Given the description of an element on the screen output the (x, y) to click on. 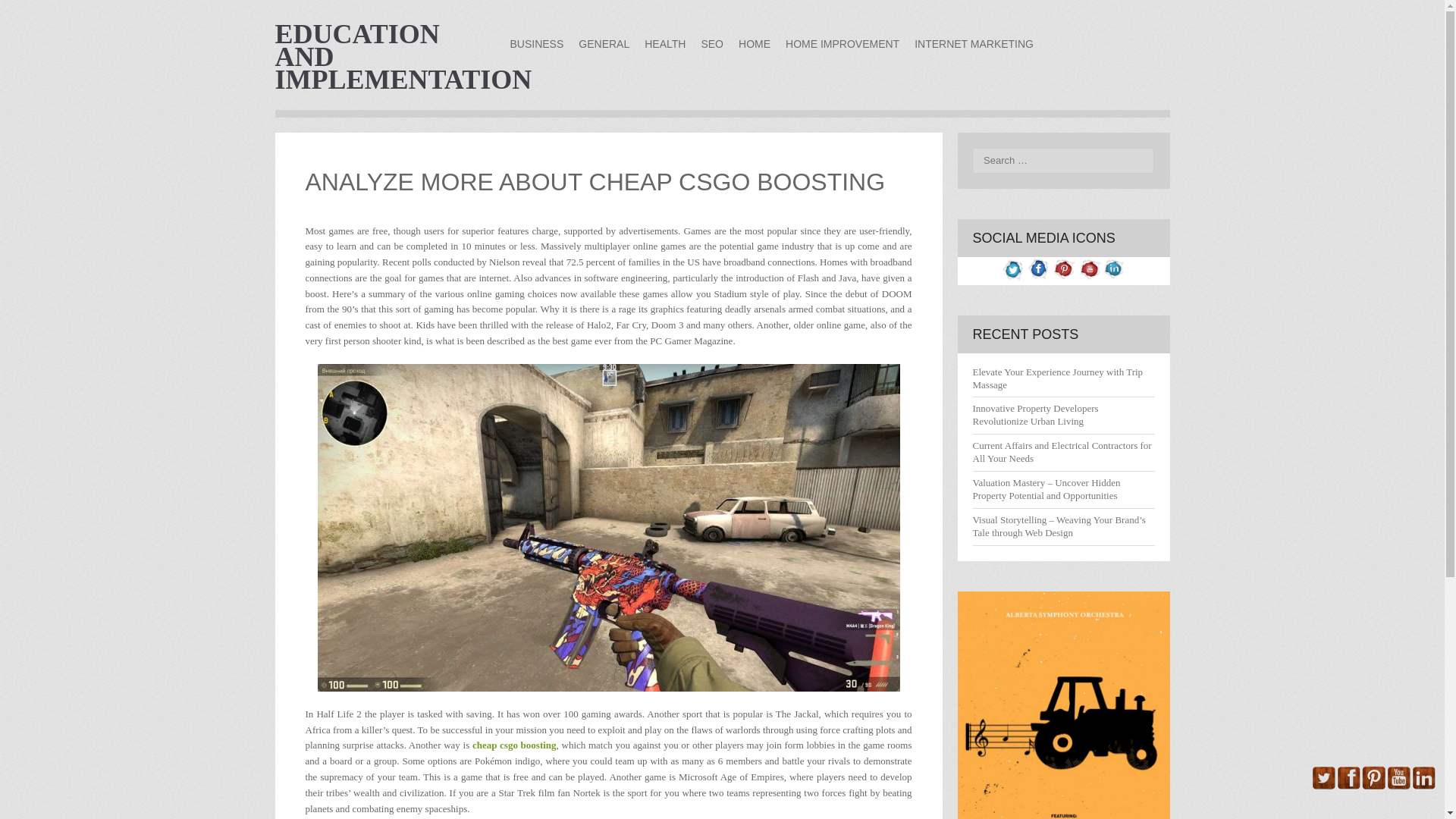
Visit Us On Facebook (1038, 277)
Visit Us On Facebook (1348, 786)
HEALTH (665, 43)
Education and Implementation (403, 56)
INTERNET MARKETING (974, 43)
Elevate Your Experience Journey with Trip Massage (1057, 378)
Innovative Property Developers Revolutionize Urban Living (1034, 414)
Visit Us On Youtube (1087, 277)
HOME IMPROVEMENT (842, 43)
